Given the description of an element on the screen output the (x, y) to click on. 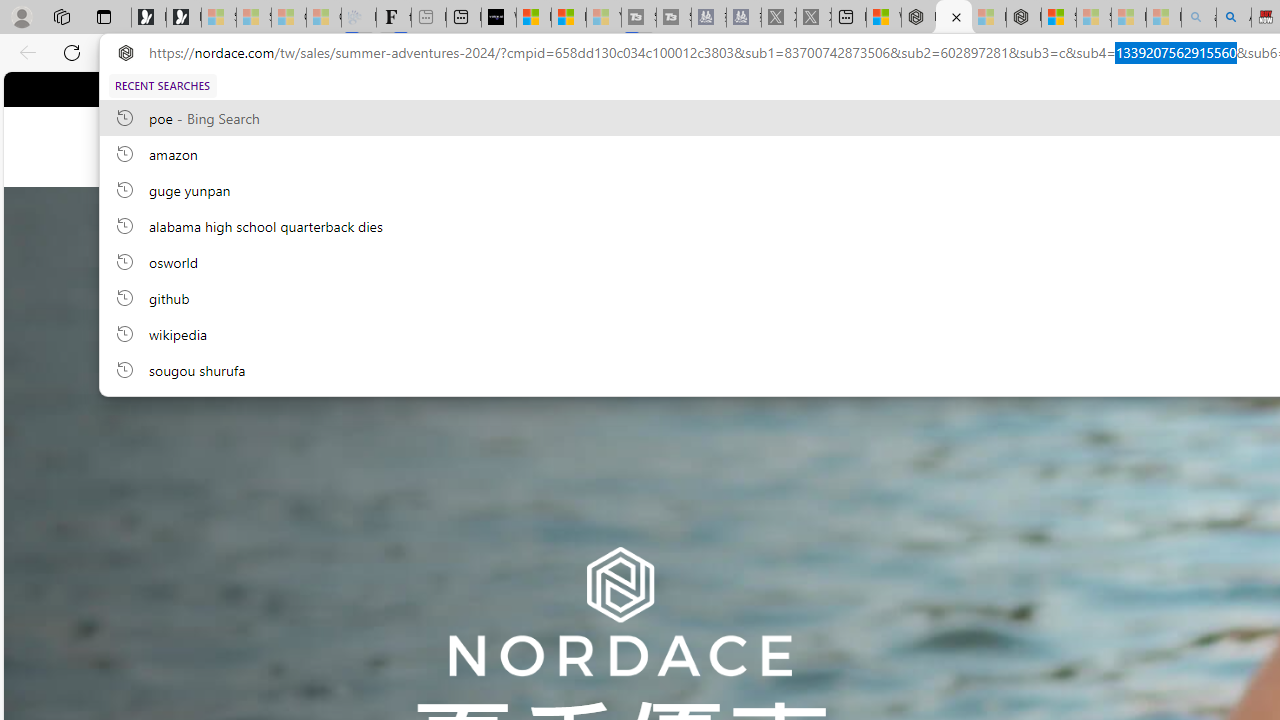
Follow on Instagram (596, 88)
Wildlife - MSN (883, 17)
Microsoft Start Sports (534, 17)
Microsoft Start (568, 17)
Close tab (956, 16)
Nordace - Nordace Siena Is Not An Ordinary Backpack (1023, 17)
Amazon Echo Dot PNG - Search Images (1233, 17)
